Given the description of an element on the screen output the (x, y) to click on. 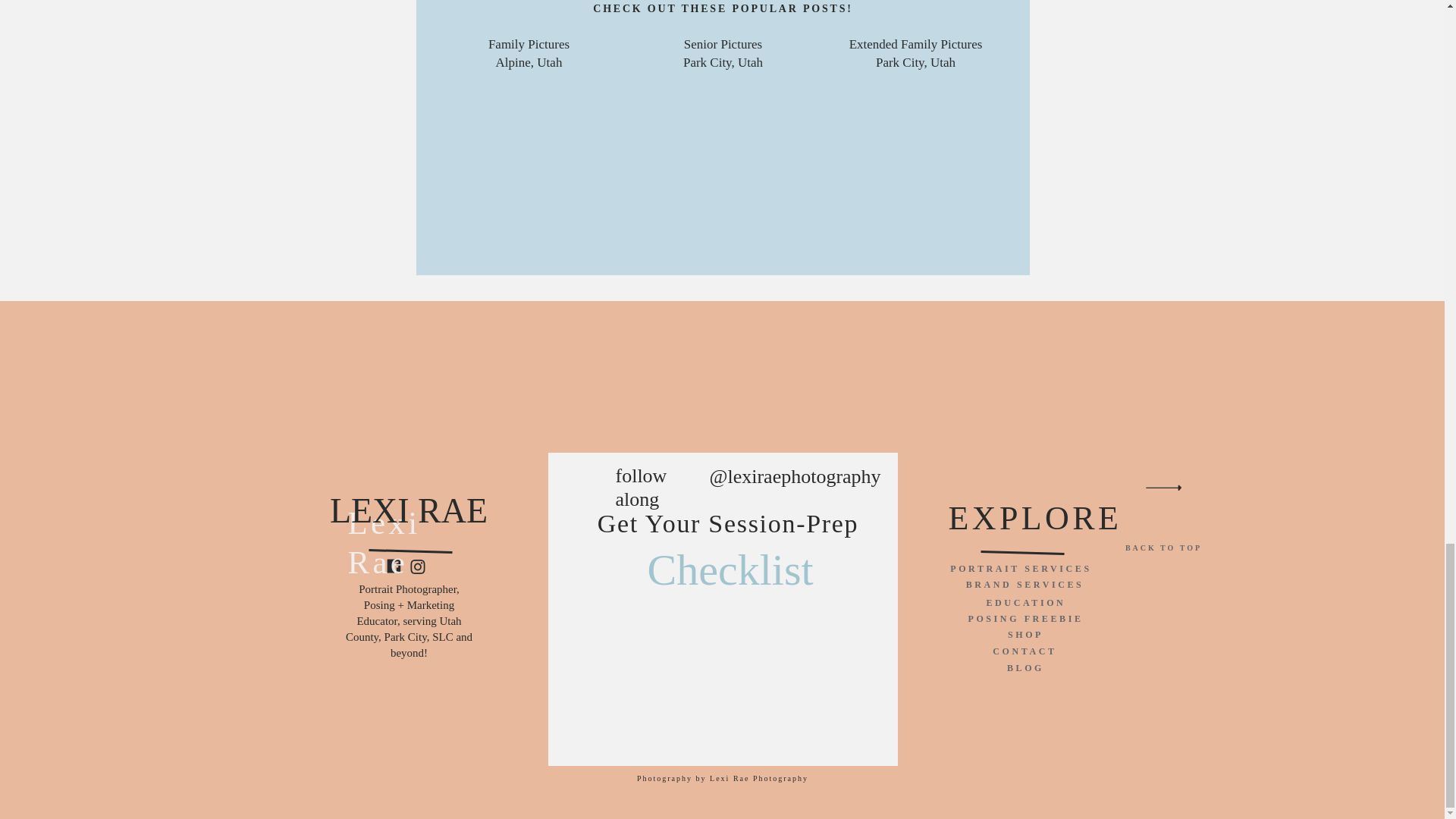
Post Comment (529, 54)
Post Comment (722, 346)
yes (722, 346)
Instagram-color Created with Sketch. (722, 273)
Facebook Copy-color Created with Sketch. (417, 566)
